Given the description of an element on the screen output the (x, y) to click on. 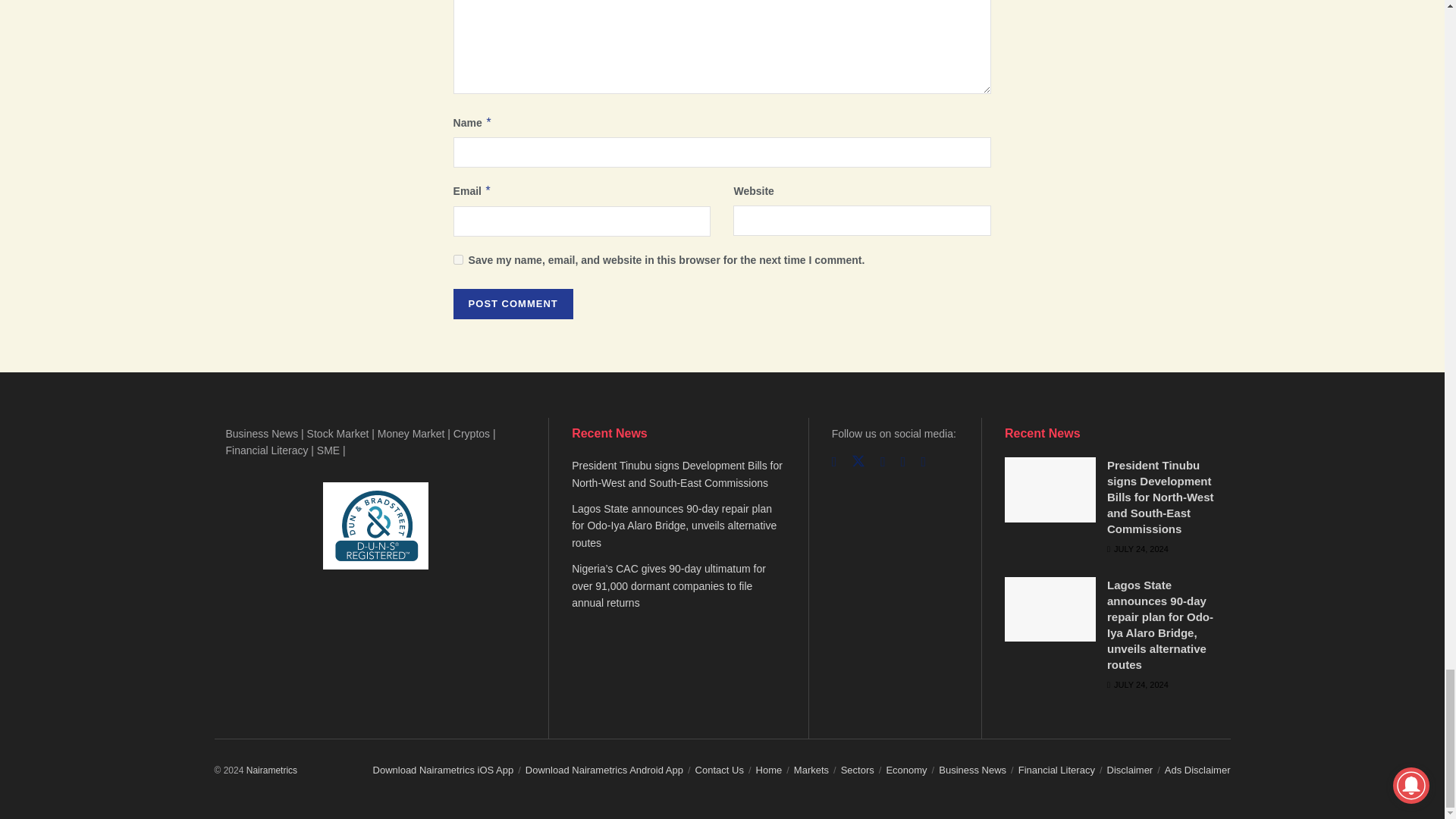
Post Comment (512, 304)
yes (457, 259)
Nairametrics (271, 769)
